Given the description of an element on the screen output the (x, y) to click on. 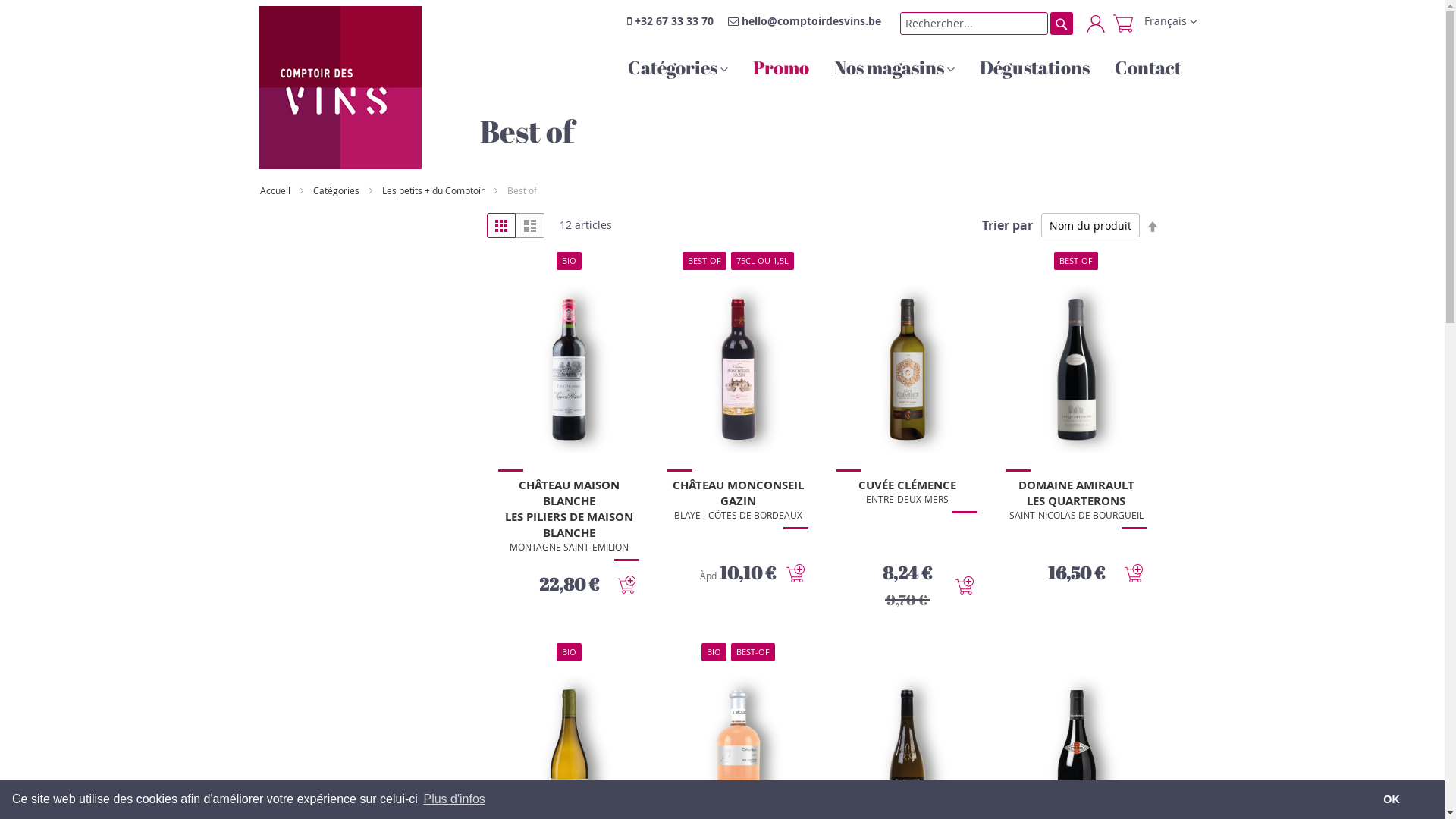
BIO Element type: text (568, 457)
+32 67 33 33 70 Element type: text (672, 20)
Ajouter au panier Element type: hover (795, 572)
Plus d'infos Element type: text (453, 798)
Ajouter au panier Element type: hover (626, 584)
Mon panier Element type: hover (1122, 22)
Ajouter au panier Element type: hover (964, 584)
Contact Element type: text (1147, 67)
DOMAINE AMIRAULT
LES QUARTERONS
SAINT-NICOLAS DE BOURGUEIL Element type: text (1076, 499)
Promo Element type: text (780, 67)
Les petits + du Comptoir Element type: text (433, 190)
Nos magasins Element type: text (894, 67)
hello@comptoirdesvins.be Element type: text (811, 20)
Rechercher Element type: text (1060, 23)
Mon compte Element type: text (1095, 23)
BEST-OF Element type: text (1075, 457)
Accueil Element type: text (274, 190)
Comptoir des Vins Element type: hover (338, 87)
BEST-OF
75CL OU 1,5L Element type: text (737, 457)
Ajouter au panier Element type: hover (1133, 572)
Liste Element type: text (529, 225)
